Given the description of an element on the screen output the (x, y) to click on. 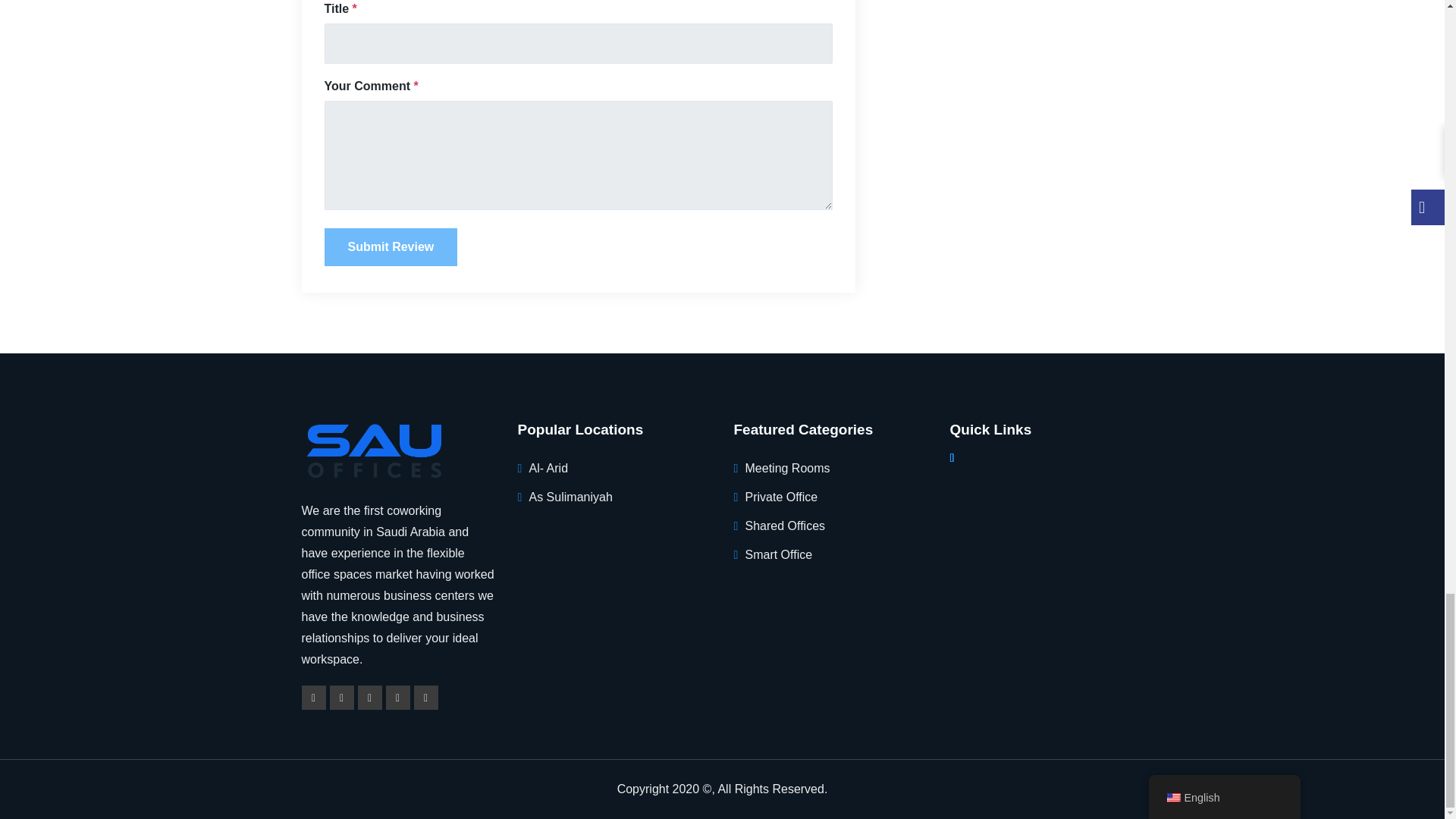
Al- Arid (549, 468)
Smart Office (778, 554)
Shared Offices (784, 525)
Meeting Rooms (786, 468)
Private Office (780, 496)
Submit Review (391, 247)
As Sulimaniyah (570, 496)
